Given the description of an element on the screen output the (x, y) to click on. 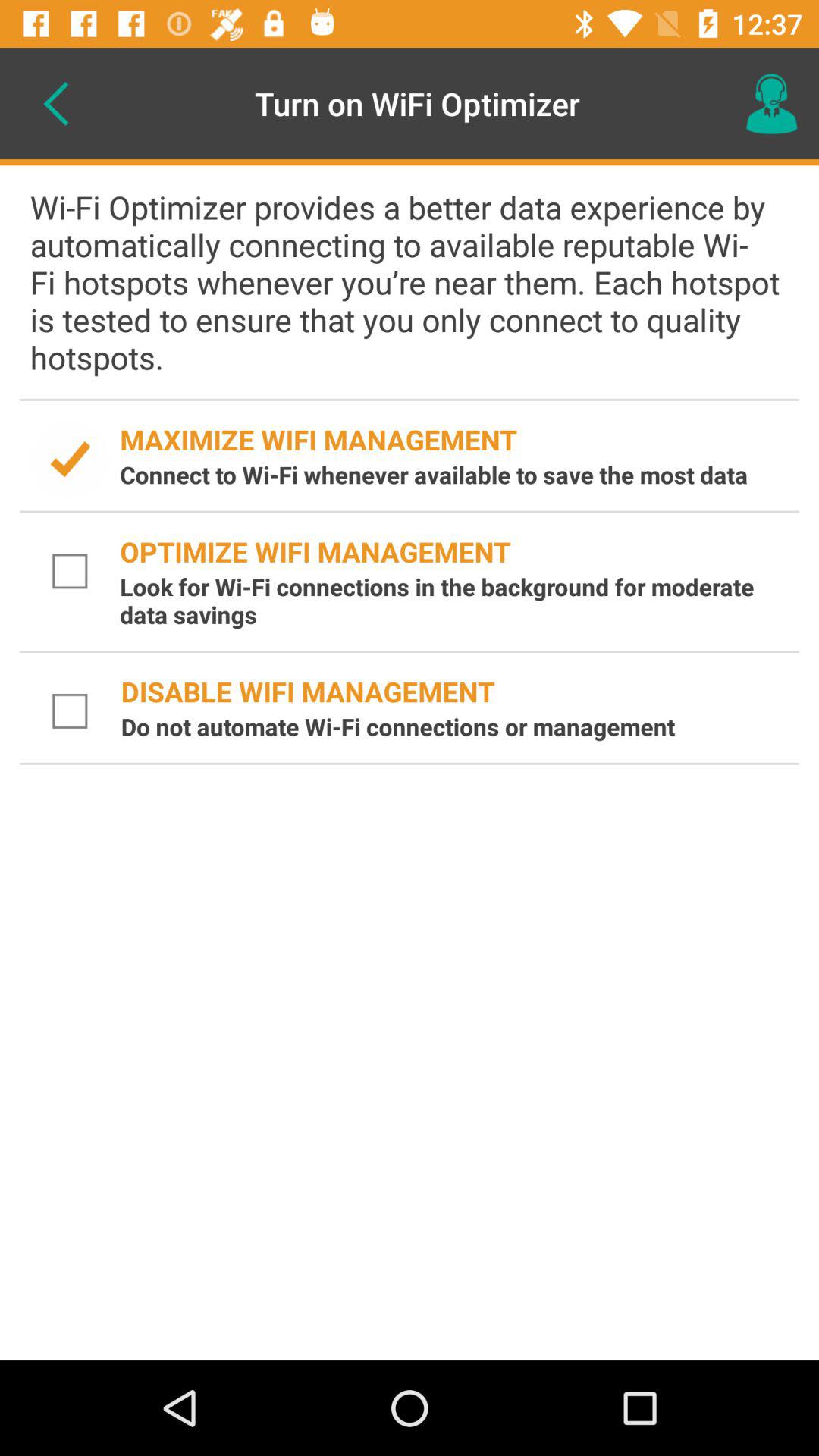
select first box (69, 459)
